Given the description of an element on the screen output the (x, y) to click on. 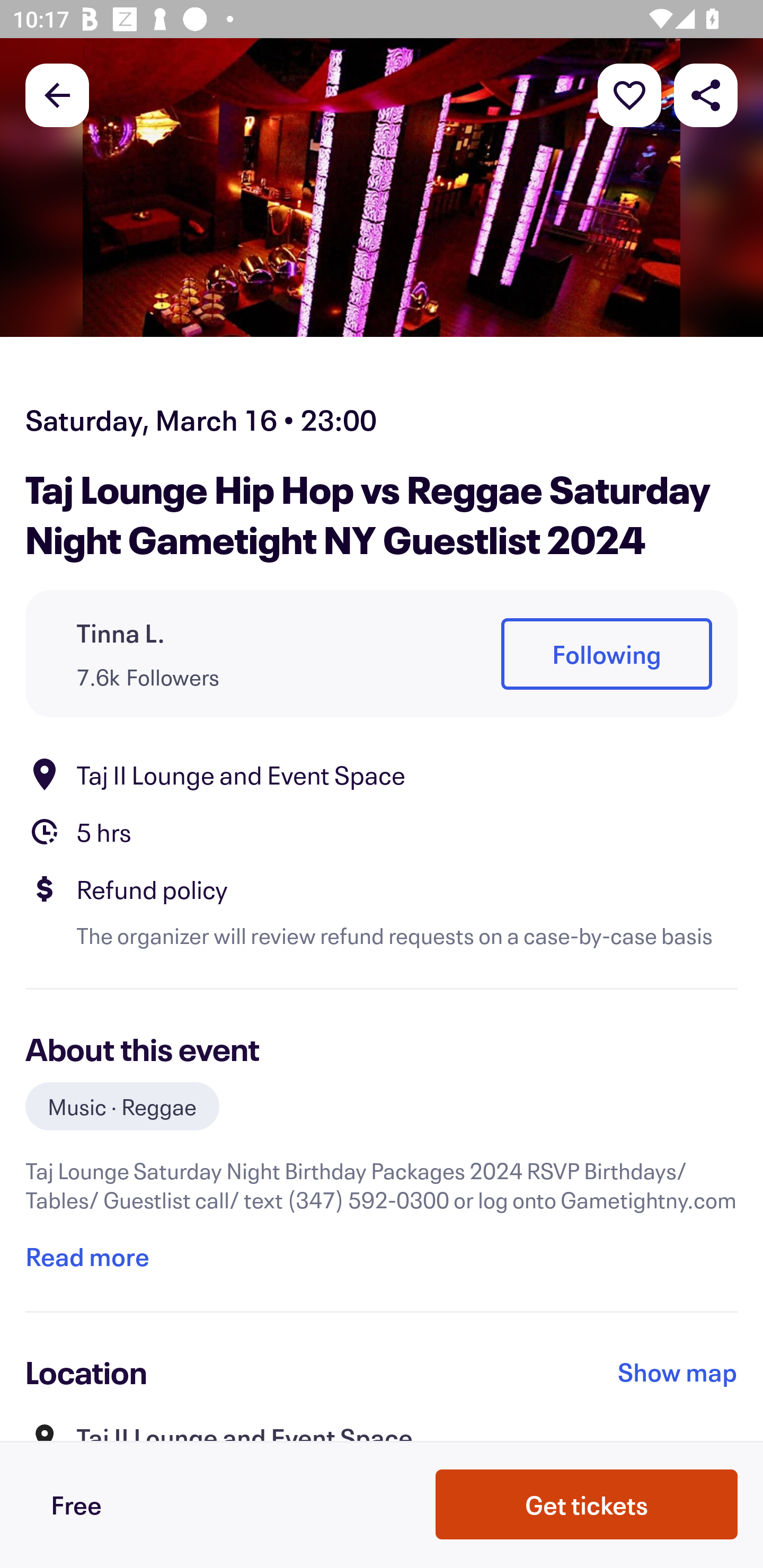
Back (57, 94)
More (629, 94)
Share (705, 94)
Tinna L. (120, 632)
Following (606, 654)
Location Taj II Lounge and Event Space (381, 774)
Read more (87, 1256)
Show map (677, 1371)
Get tickets (586, 1504)
